Given the description of an element on the screen output the (x, y) to click on. 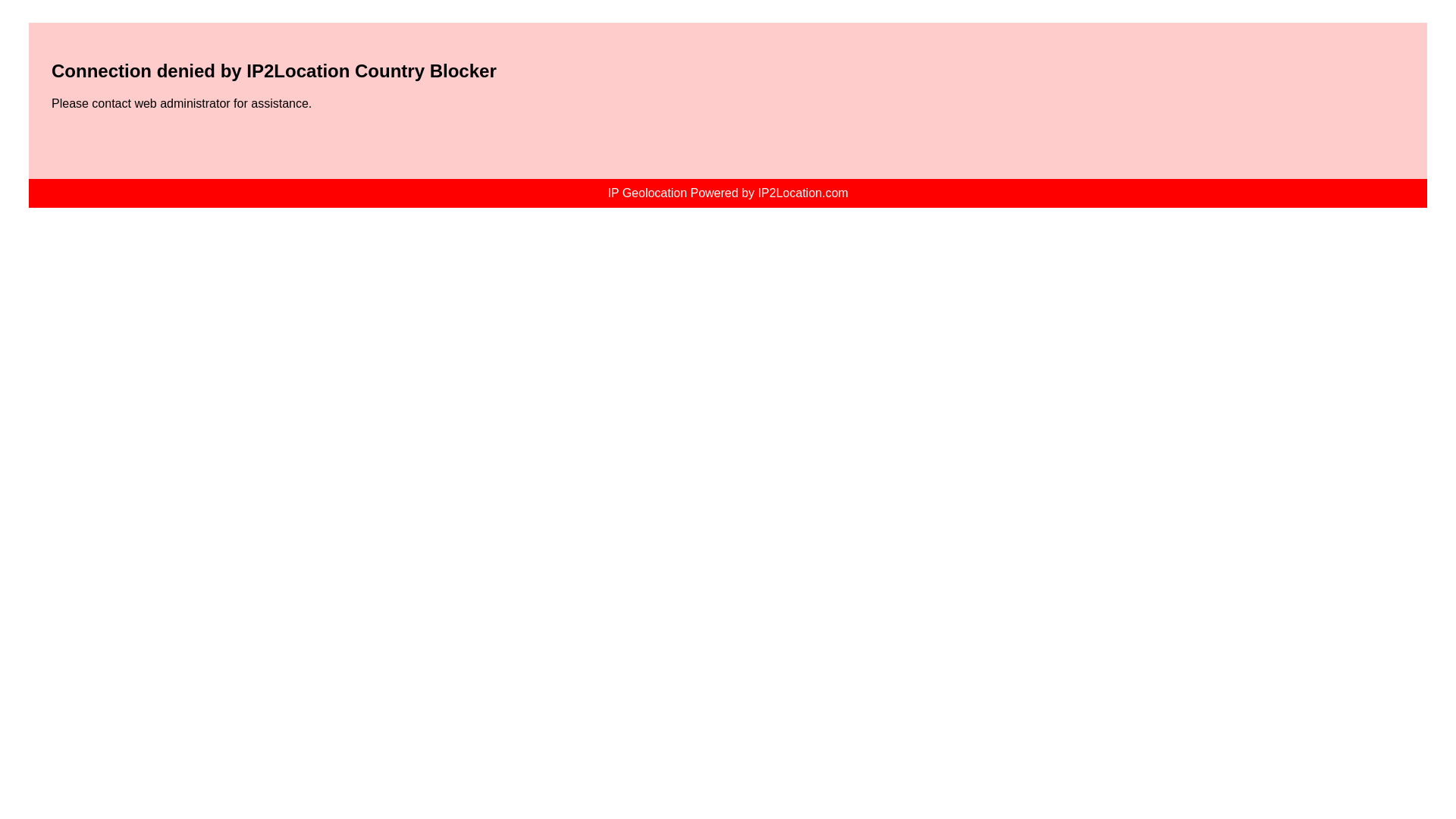
IP Geolocation Powered by IP2Location.com (727, 192)
